Given the description of an element on the screen output the (x, y) to click on. 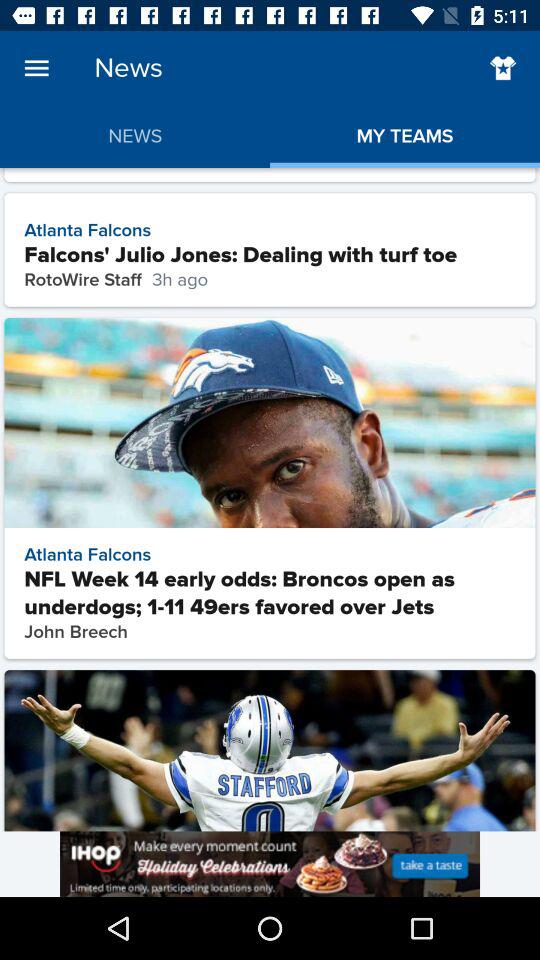
advertisement page (270, 864)
